Given the description of an element on the screen output the (x, y) to click on. 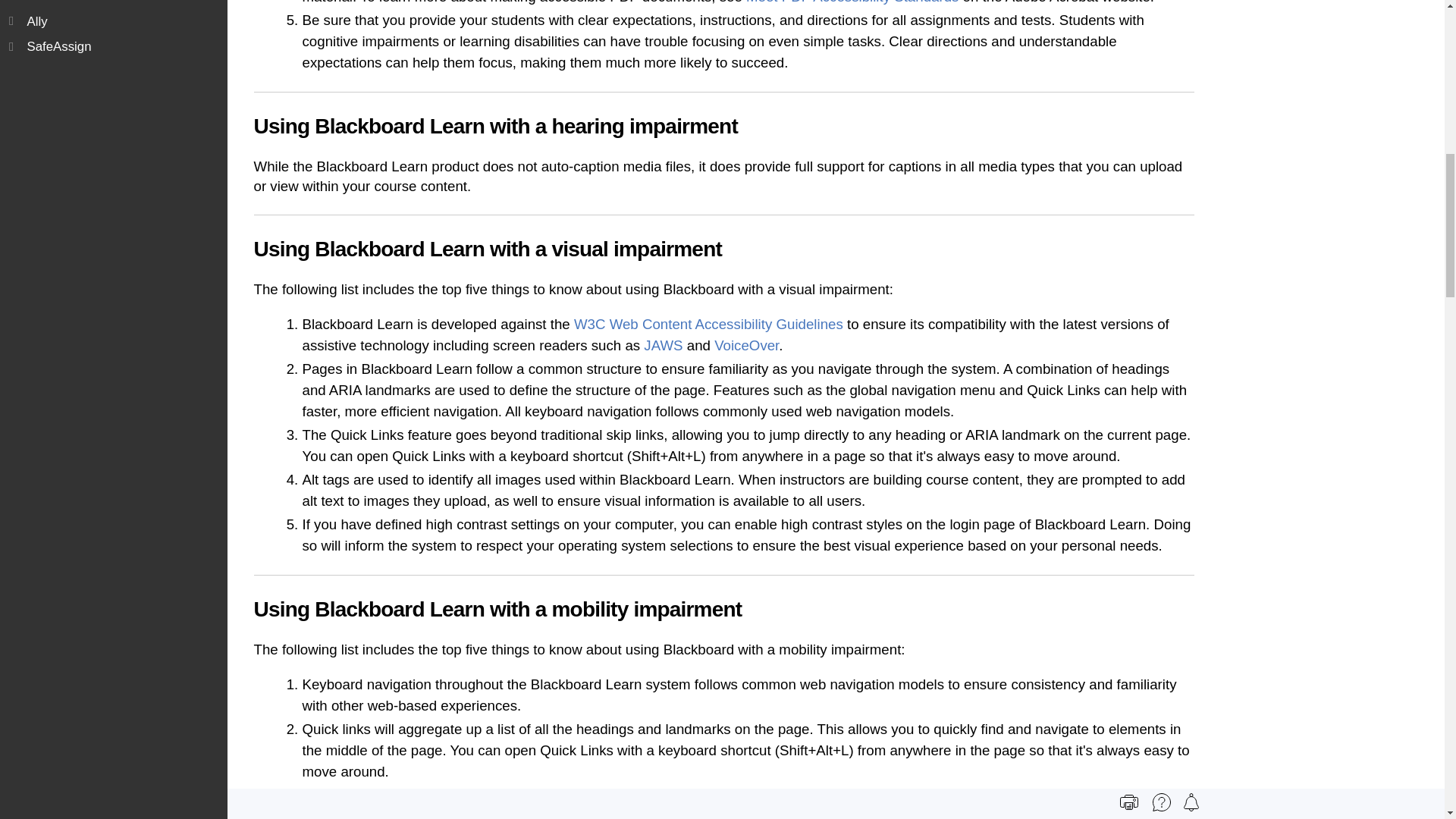
W3C Web Content Accessibility Guidelines (708, 324)
JAWS (662, 345)
VoiceOver (746, 345)
Meet PDF Accessibility Standards (851, 2)
